Given the description of an element on the screen output the (x, y) to click on. 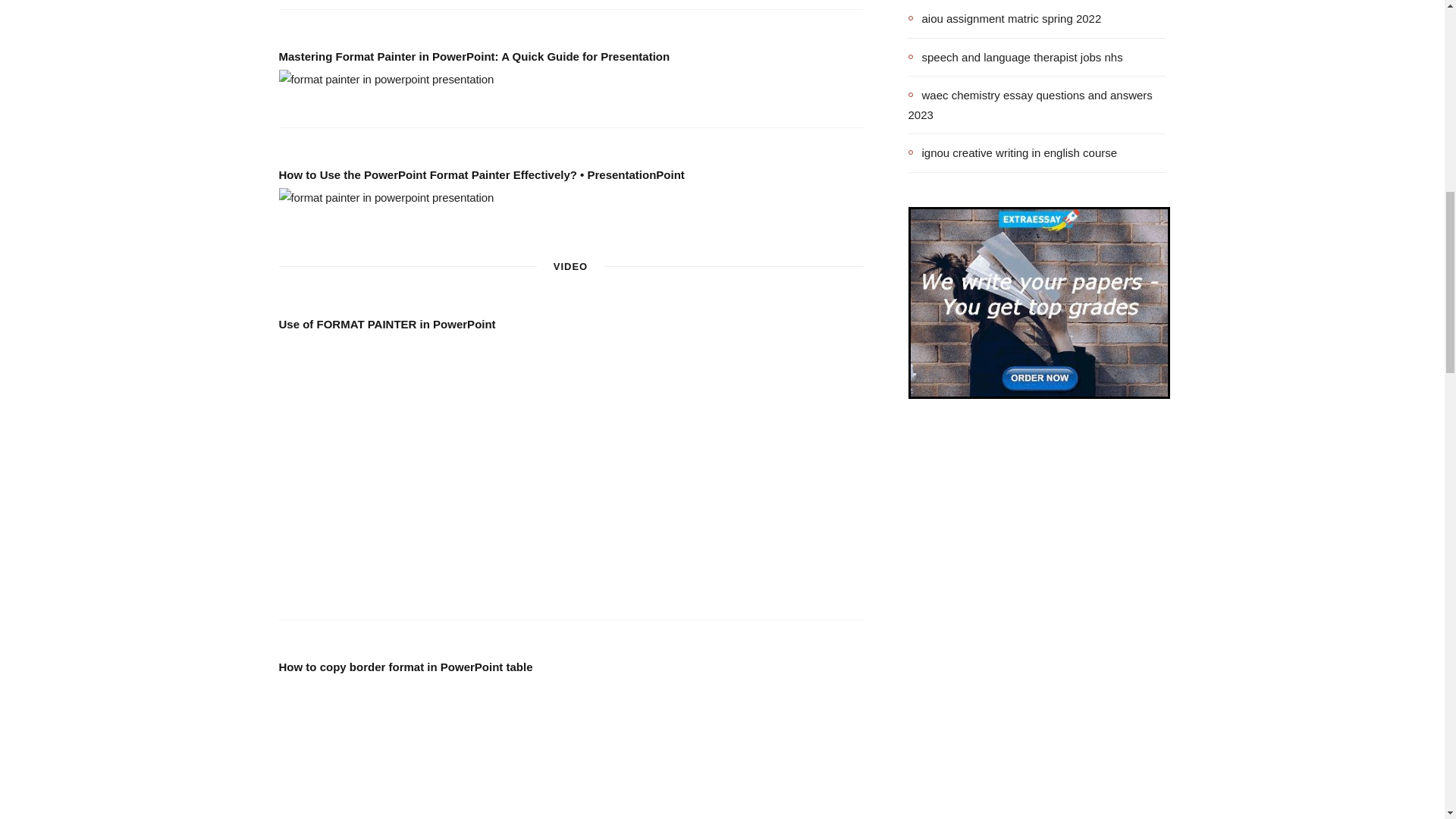
ignou creative writing in english course (1013, 152)
format painter in powerpoint presentation (387, 79)
waec chemistry essay questions and answers 2023 (1037, 104)
aiou assignment matric spring 2022 (1005, 18)
format painter in powerpoint presentation (387, 198)
speech and language therapist jobs nhs (1015, 56)
